Given the description of an element on the screen output the (x, y) to click on. 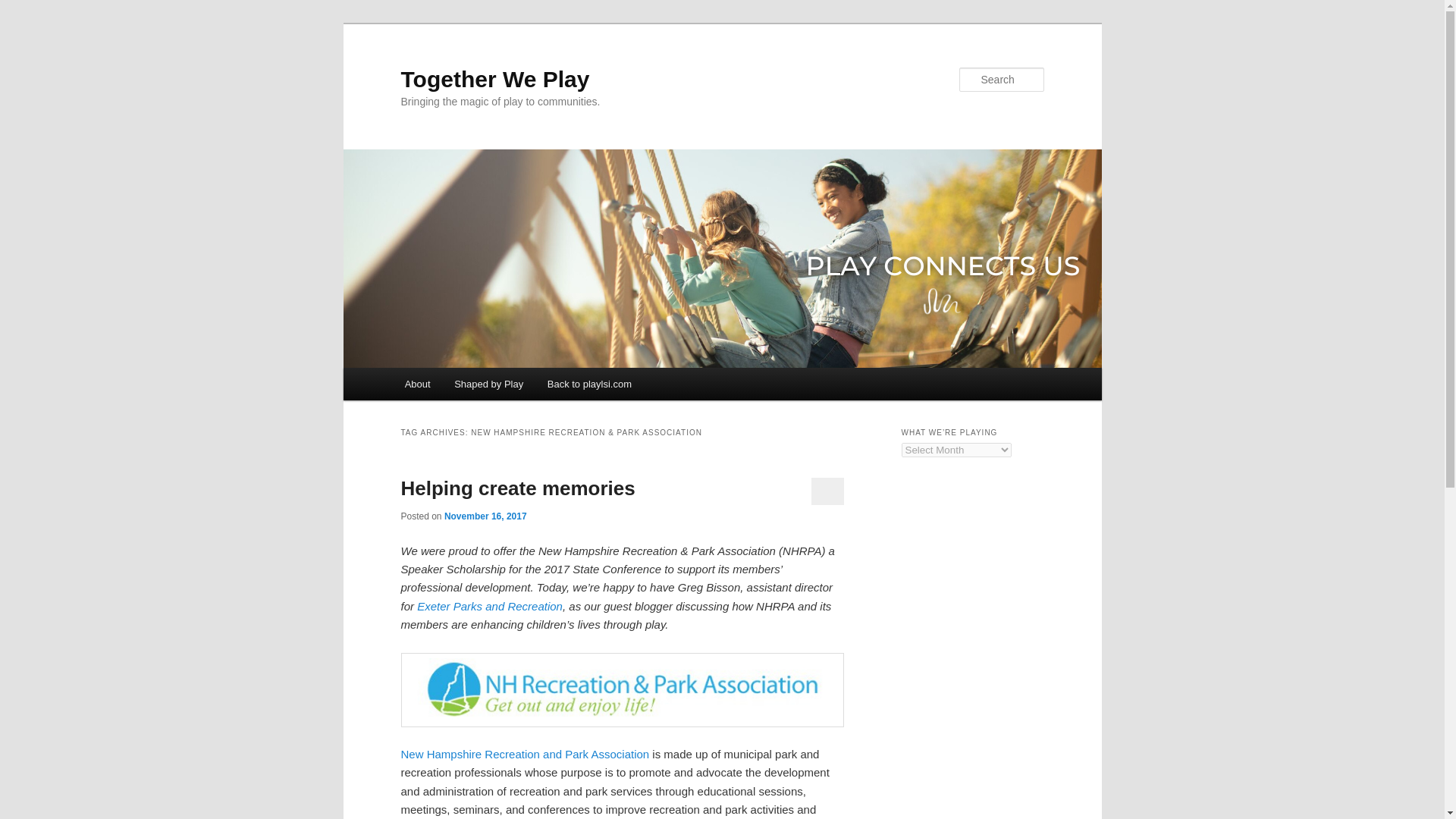
11:30 am (485, 516)
Together We Play (494, 78)
New Hampshire Recreation and Park Association (524, 753)
November 16, 2017 (485, 516)
Helping create memories (517, 487)
Exeter Parks and Recreation (489, 605)
About (417, 383)
Back to playlsi.com (589, 383)
Search (24, 8)
